Given the description of an element on the screen output the (x, y) to click on. 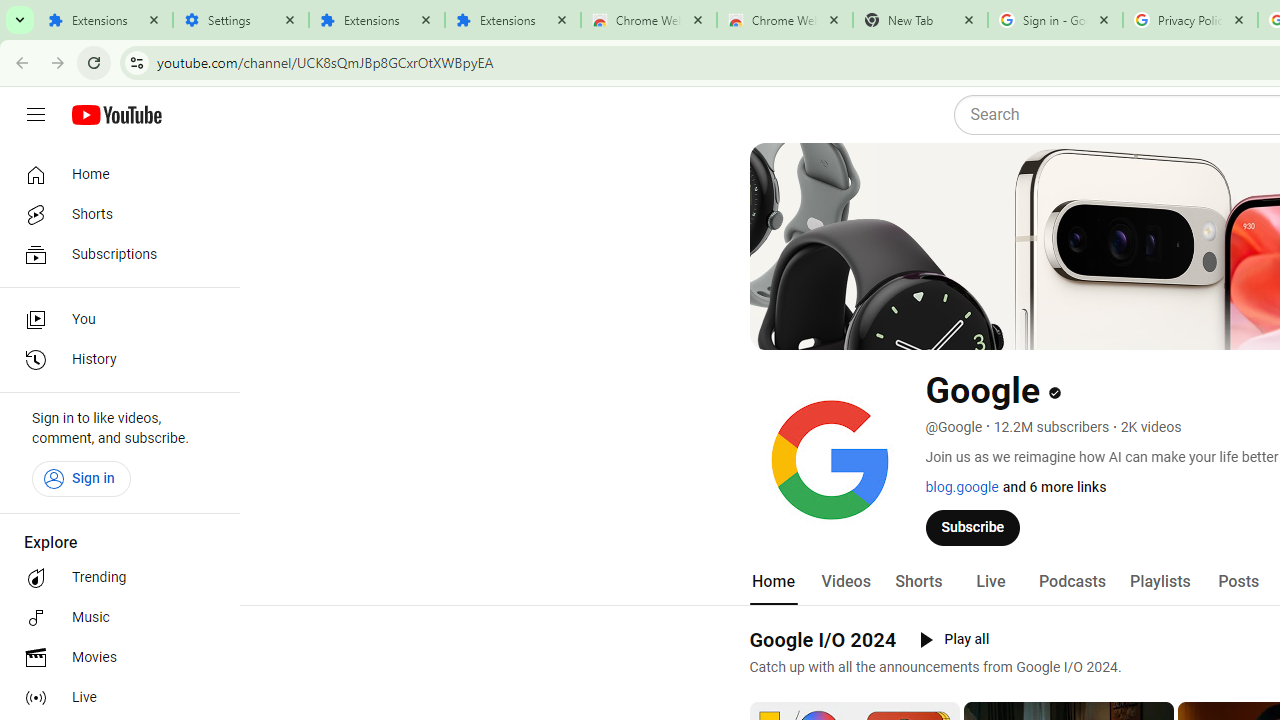
Extensions (104, 20)
Playlists (1160, 581)
Live (990, 581)
History (113, 359)
Extensions (513, 20)
Shorts (113, 214)
Music (113, 617)
New Tab (920, 20)
